Given the description of an element on the screen output the (x, y) to click on. 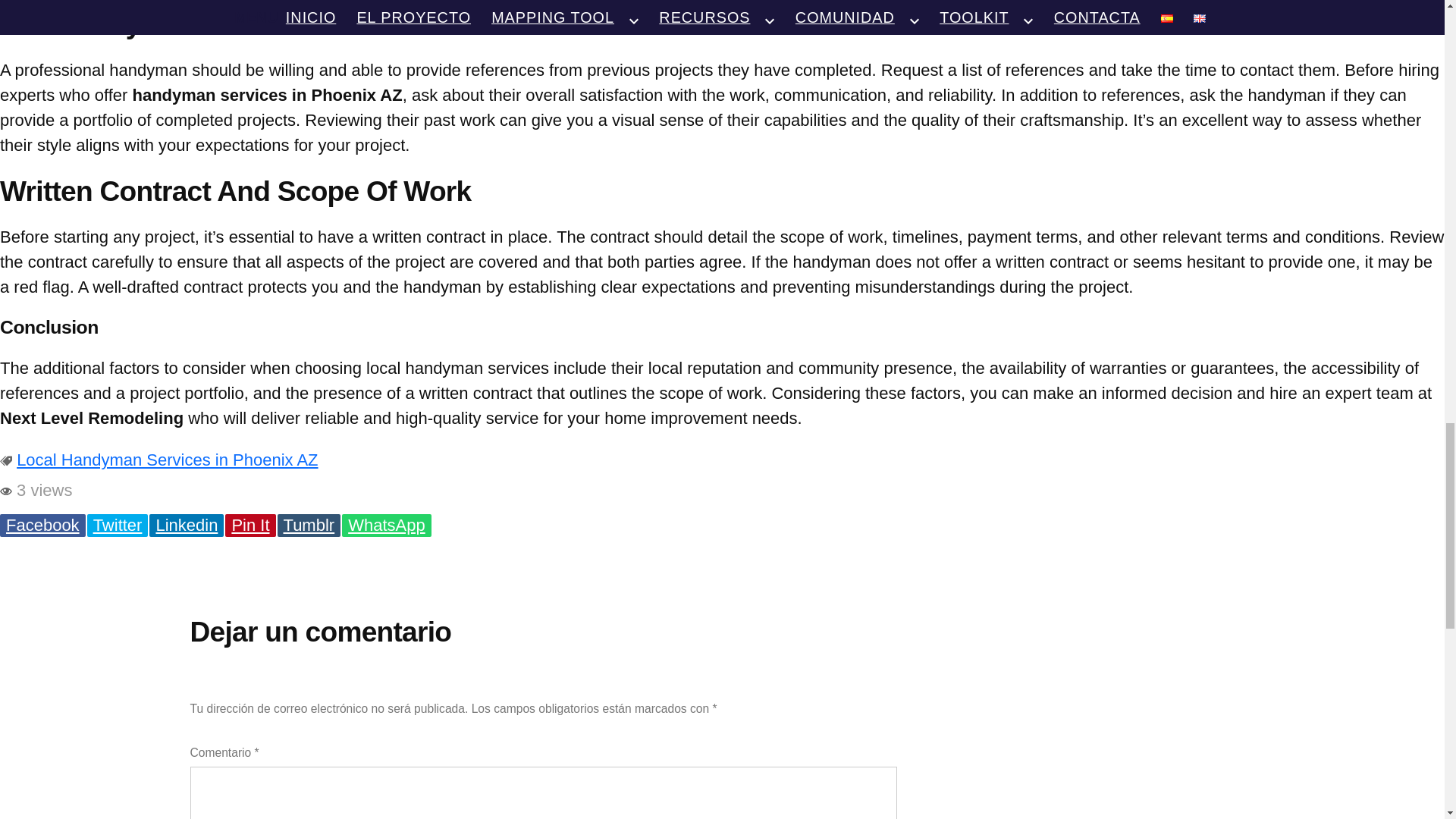
Facebook (42, 525)
Linkedin (186, 525)
Local Handyman Services in Phoenix AZ (166, 459)
Pin It (250, 525)
Twitter (117, 525)
